Given the description of an element on the screen output the (x, y) to click on. 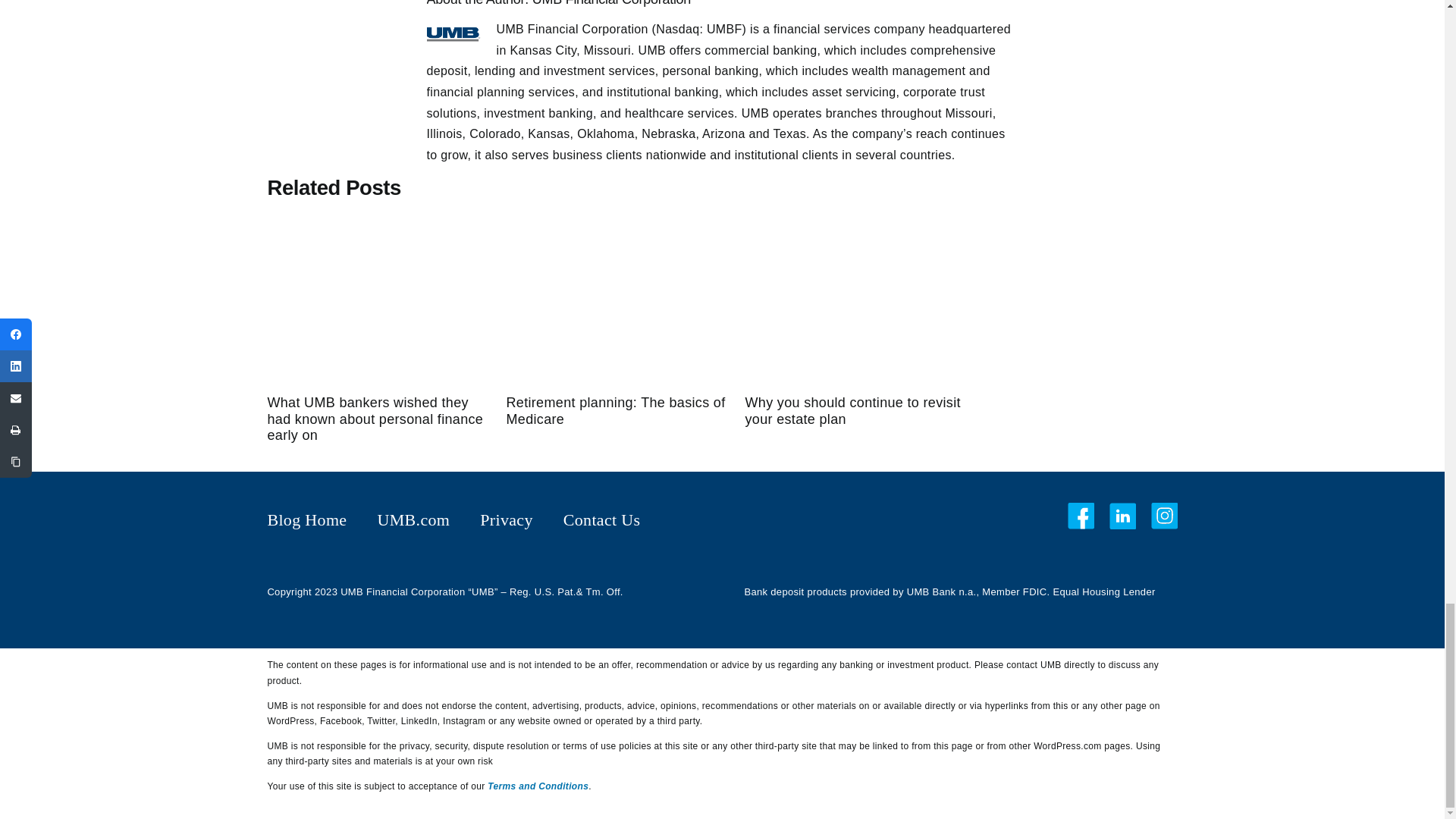
Posts by UMB Financial Corporation (611, 3)
UMB Financial Corporation (611, 3)
Blog Home (306, 519)
Retirement planning: The basics of Medicare (617, 407)
Why you should continue to revisit your estate plan (856, 407)
